Given the description of an element on the screen output the (x, y) to click on. 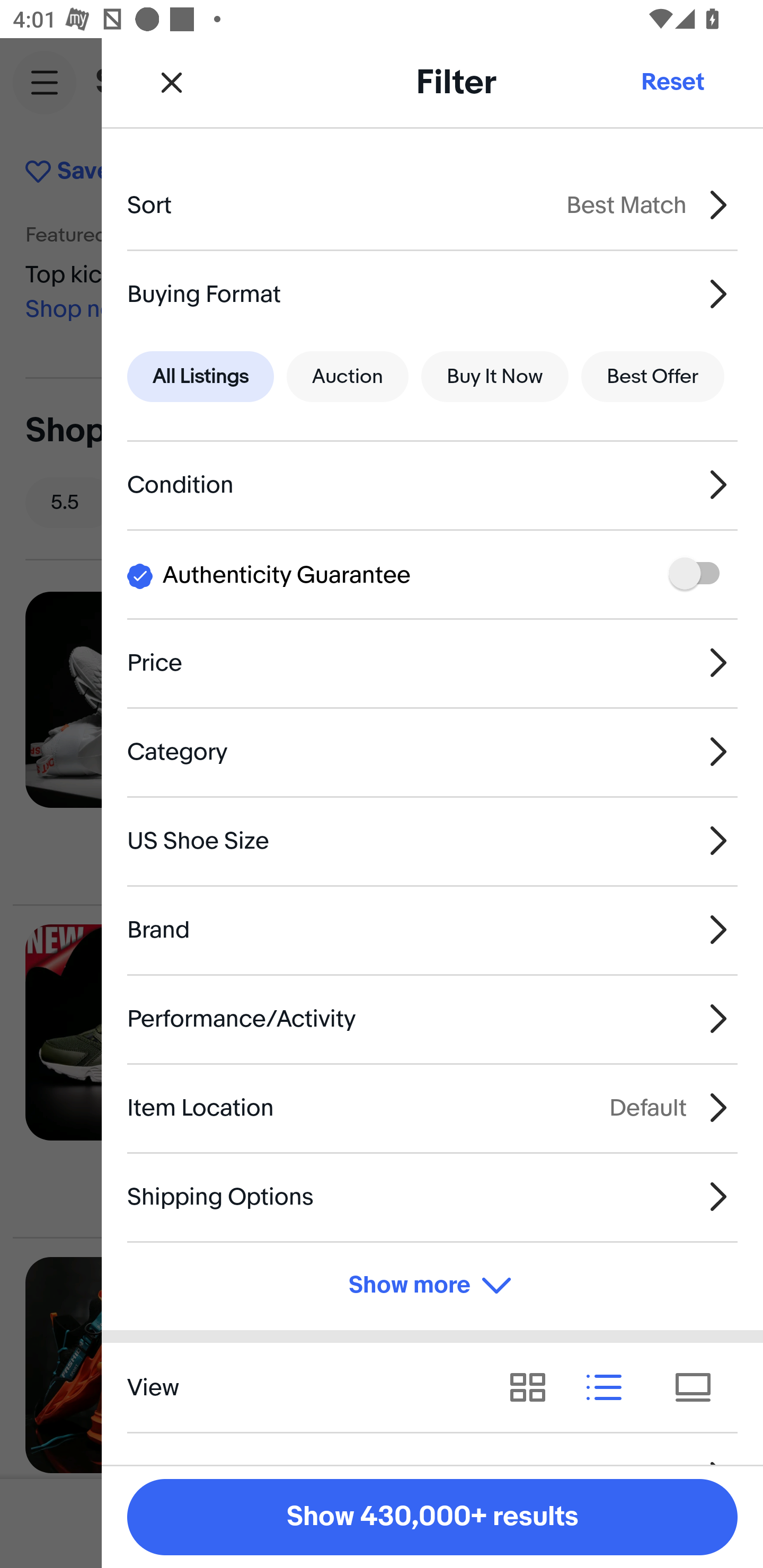
Close Filter (171, 81)
Buying Format (432, 293)
All Listings (200, 376)
Auction (347, 376)
Buy It Now (494, 376)
Best Offer (652, 376)
Condition (432, 484)
I  Authenticity Guarantee (432, 573)
Price (432, 662)
Category (432, 751)
US Shoe Size (432, 840)
Brand (432, 929)
Performance/Activity (432, 1018)
Item Location Default (432, 1107)
Shipping Options (432, 1196)
Show more (432, 1285)
View results as grid (533, 1386)
View results as list (610, 1386)
View results as tiles (699, 1386)
Show 430,000+ results (432, 1516)
